Given the description of an element on the screen output the (x, y) to click on. 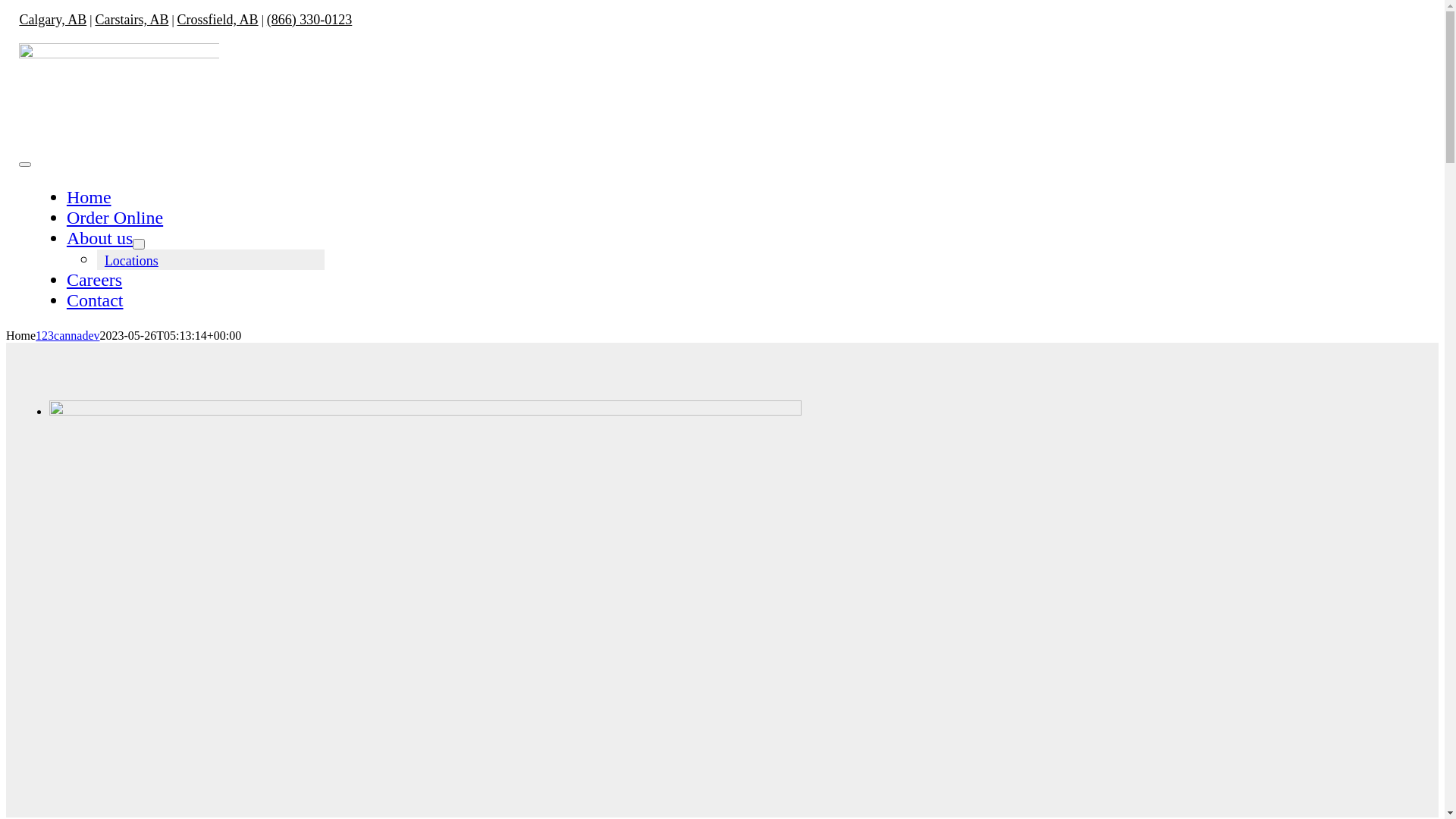
Careers Element type: text (94, 279)
Skip to content Element type: text (5, 11)
123cannadev Element type: text (67, 335)
Order Online Element type: text (114, 217)
Carstairs, AB Element type: text (131, 19)
Crossfield, AB Element type: text (217, 19)
(866) 330-0123 Element type: text (308, 19)
About us Element type: text (99, 237)
Locations Element type: text (131, 260)
Home Element type: text (88, 196)
Contact Element type: text (94, 299)
Calgary, AB Element type: text (52, 19)
Toggle Navigation Element type: text (24, 164)
